Given the description of an element on the screen output the (x, y) to click on. 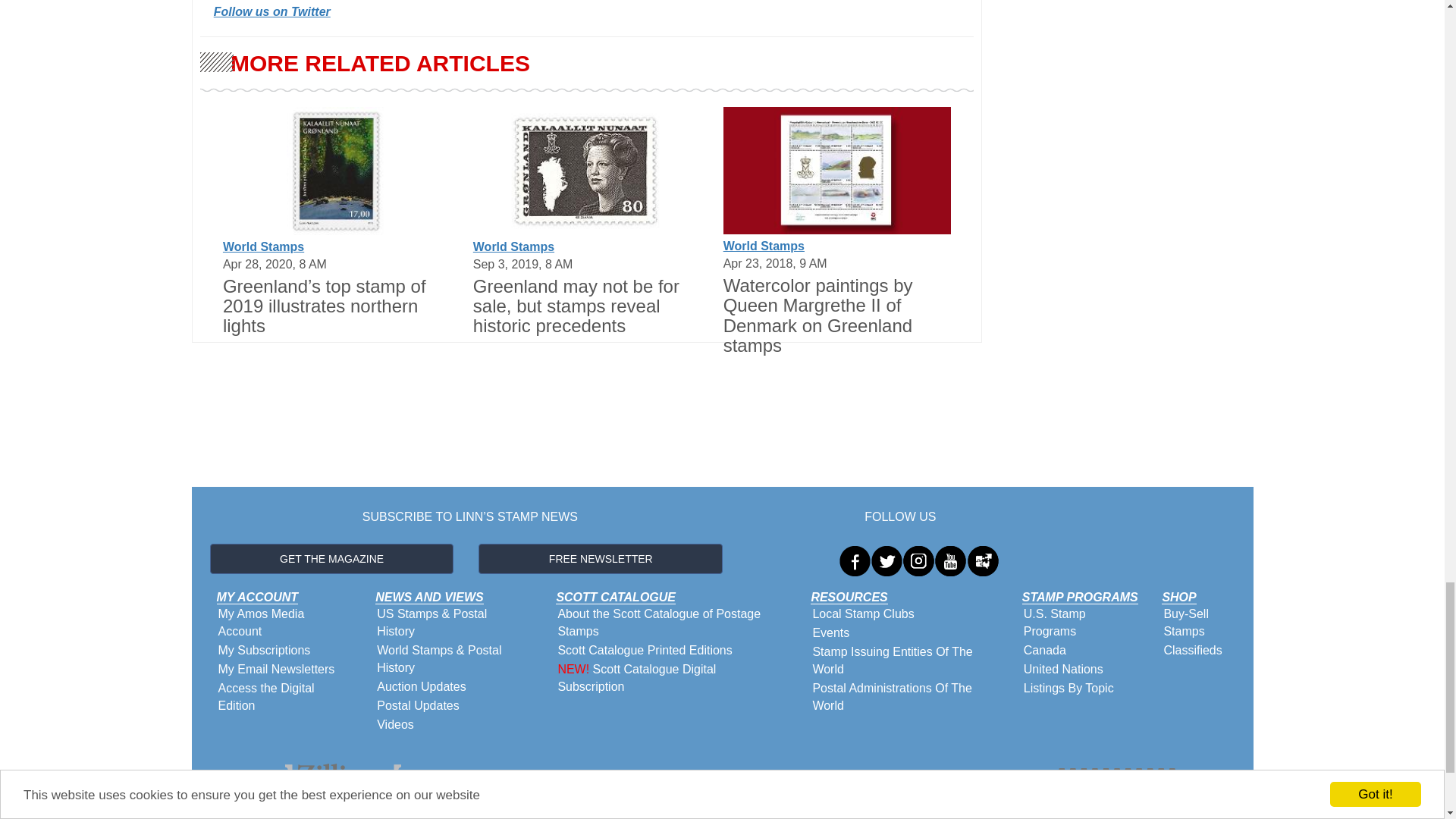
3rd party ad content (587, 443)
